Given the description of an element on the screen output the (x, y) to click on. 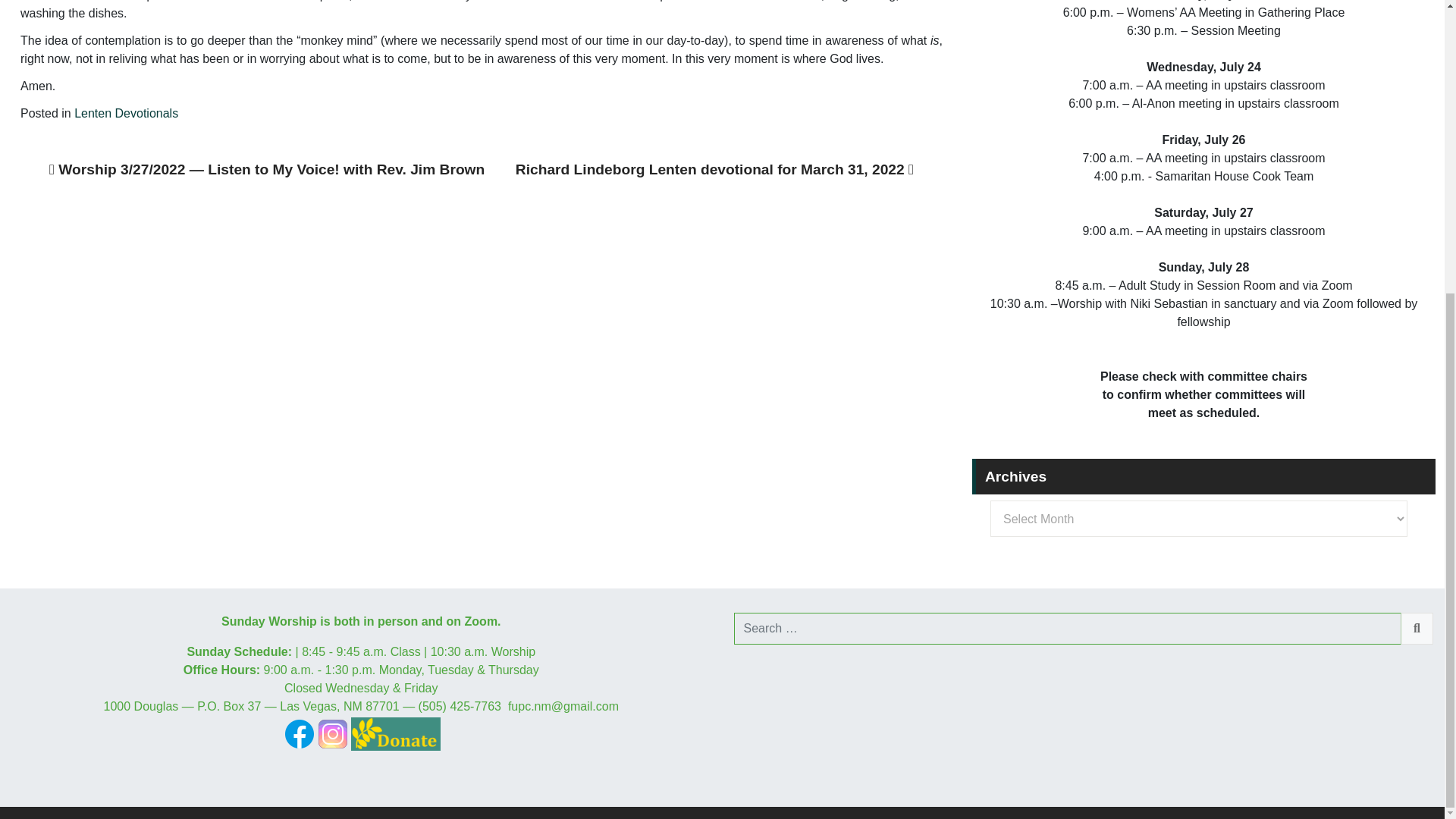
Lenten Devotionals (125, 113)
Richard Lindeborg Lenten devotional for March 31, 2022  (714, 169)
